Given the description of an element on the screen output the (x, y) to click on. 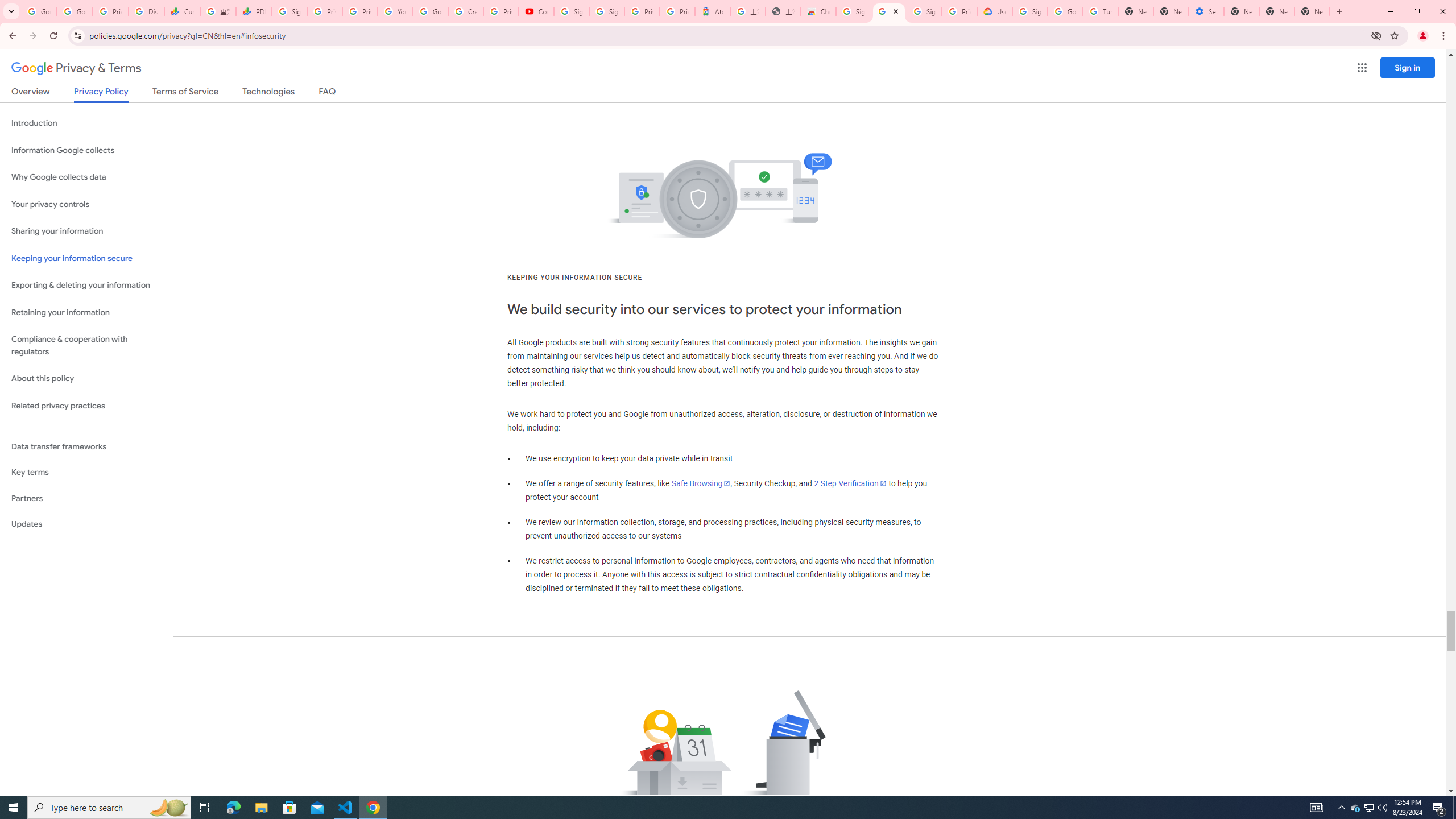
Settings - System (1205, 11)
Google Account Help (1064, 11)
New Tab (1135, 11)
Currencies - Google Finance (181, 11)
Google Workspace Admin Community (39, 11)
About this policy (86, 379)
